Given the description of an element on the screen output the (x, y) to click on. 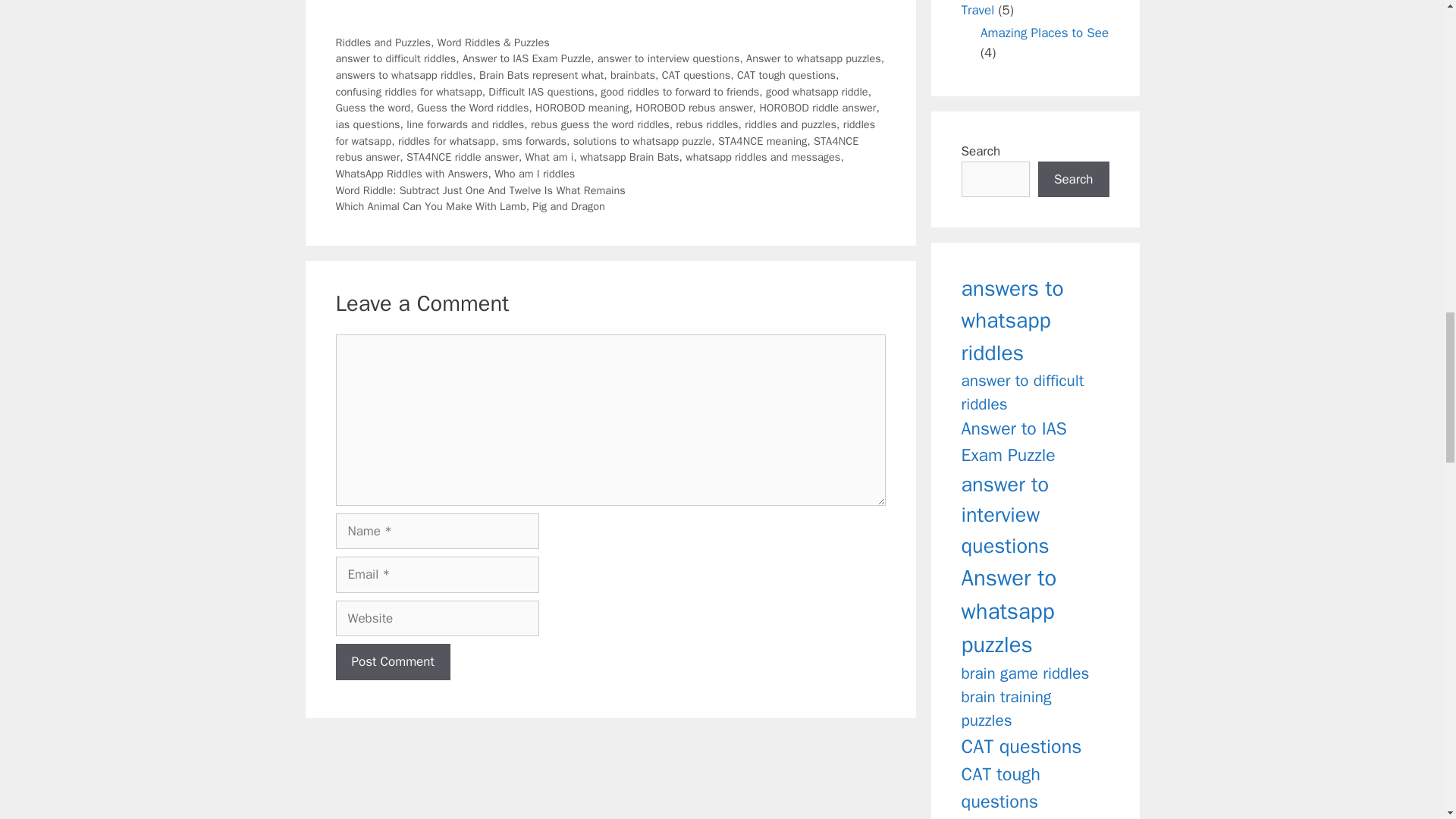
answers to whatsapp riddles (402, 74)
Brain Bats represent what (541, 74)
confusing riddles for whatsapp (407, 91)
answer to difficult riddles (394, 58)
Answer to IAS Exam Puzzle (527, 58)
Answer to whatsapp puzzles (812, 58)
CAT questions (696, 74)
Post Comment (391, 661)
answer to interview questions (667, 58)
brainbats (632, 74)
CAT tough questions (785, 74)
Riddles and Puzzles (381, 42)
